Given the description of an element on the screen output the (x, y) to click on. 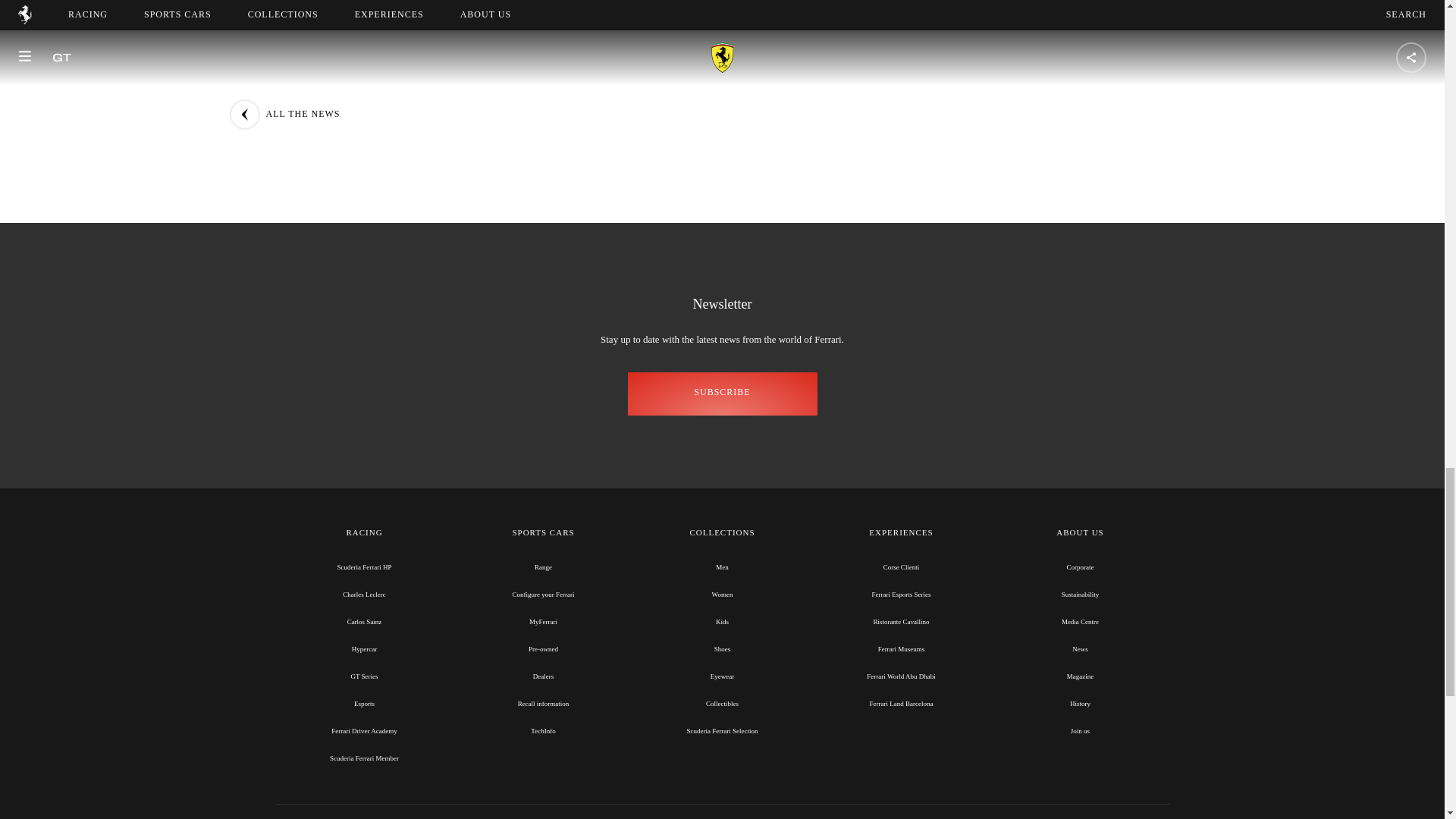
RACING (363, 532)
Hypercar (364, 648)
Charles Leclerc (363, 594)
Esports (363, 703)
Range (542, 566)
MyFerrari (543, 621)
Scuderia Ferrari Member (364, 758)
SUBSCRIBE (721, 393)
Configure your Ferrari (543, 594)
SPORTS CARS (542, 532)
Scuderia Ferrari HP (363, 566)
Carlos Sainz (364, 621)
Ferrari Driver Academy (363, 730)
GT Series (363, 676)
